Given the description of an element on the screen output the (x, y) to click on. 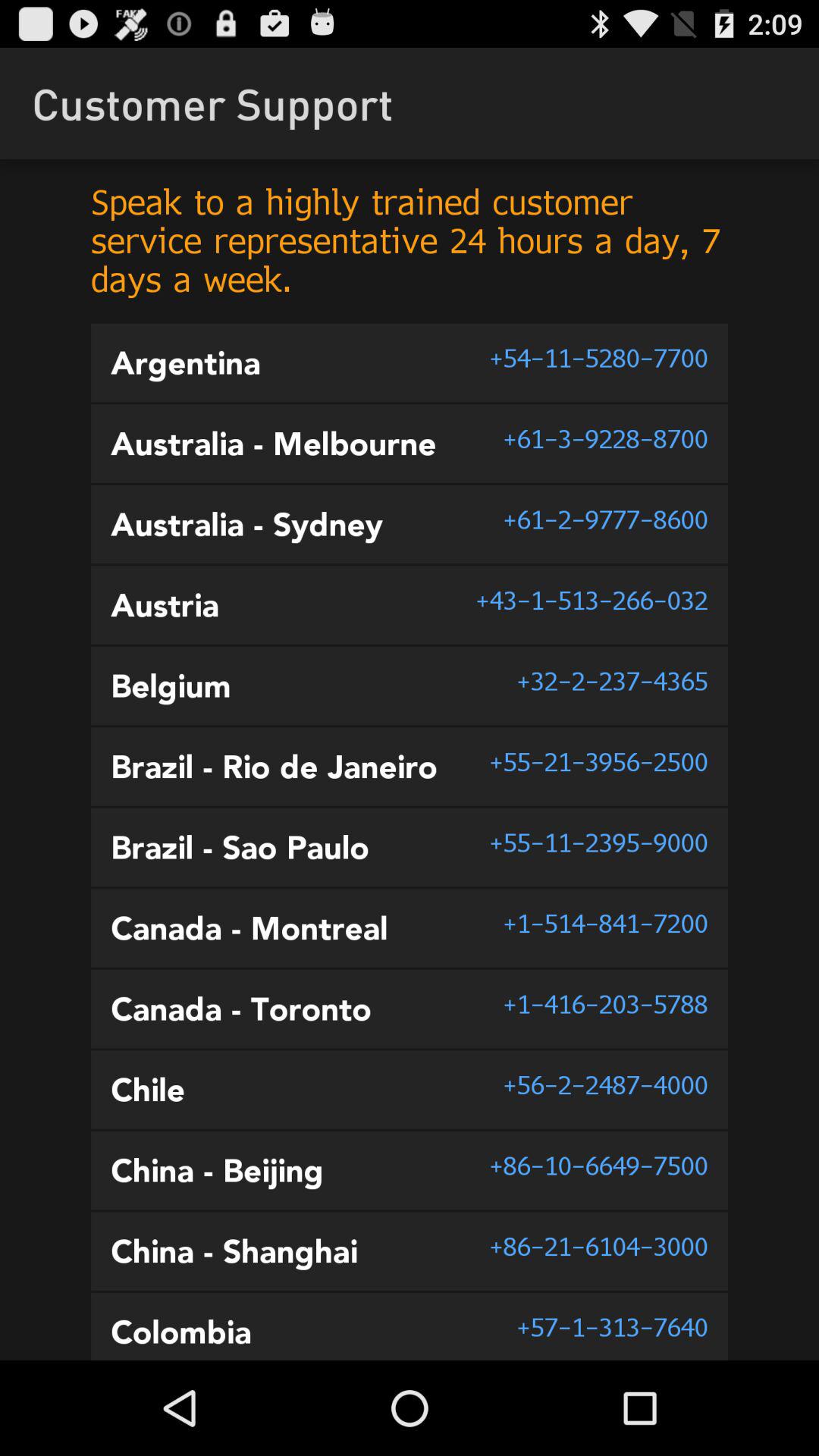
flip until 32 2 237 (612, 680)
